Given the description of an element on the screen output the (x, y) to click on. 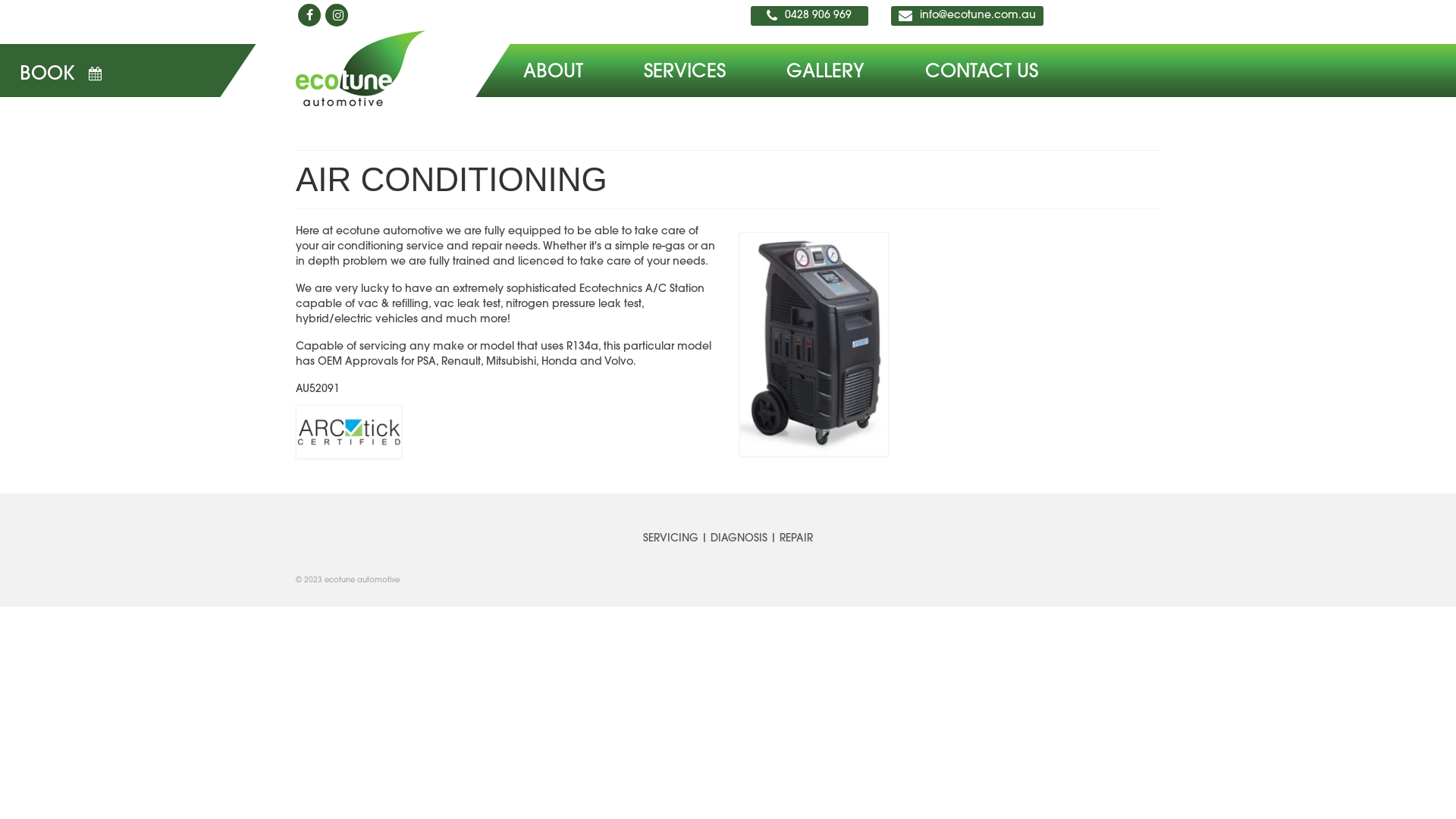
info@ecotune.com.au Element type: text (977, 12)
SERVICES Element type: text (684, 72)
GALLERY Element type: text (825, 72)
ABOUT Element type: text (553, 72)
CONTACT US Element type: text (981, 72)
BOOK Element type: text (75, 63)
